Given the description of an element on the screen output the (x, y) to click on. 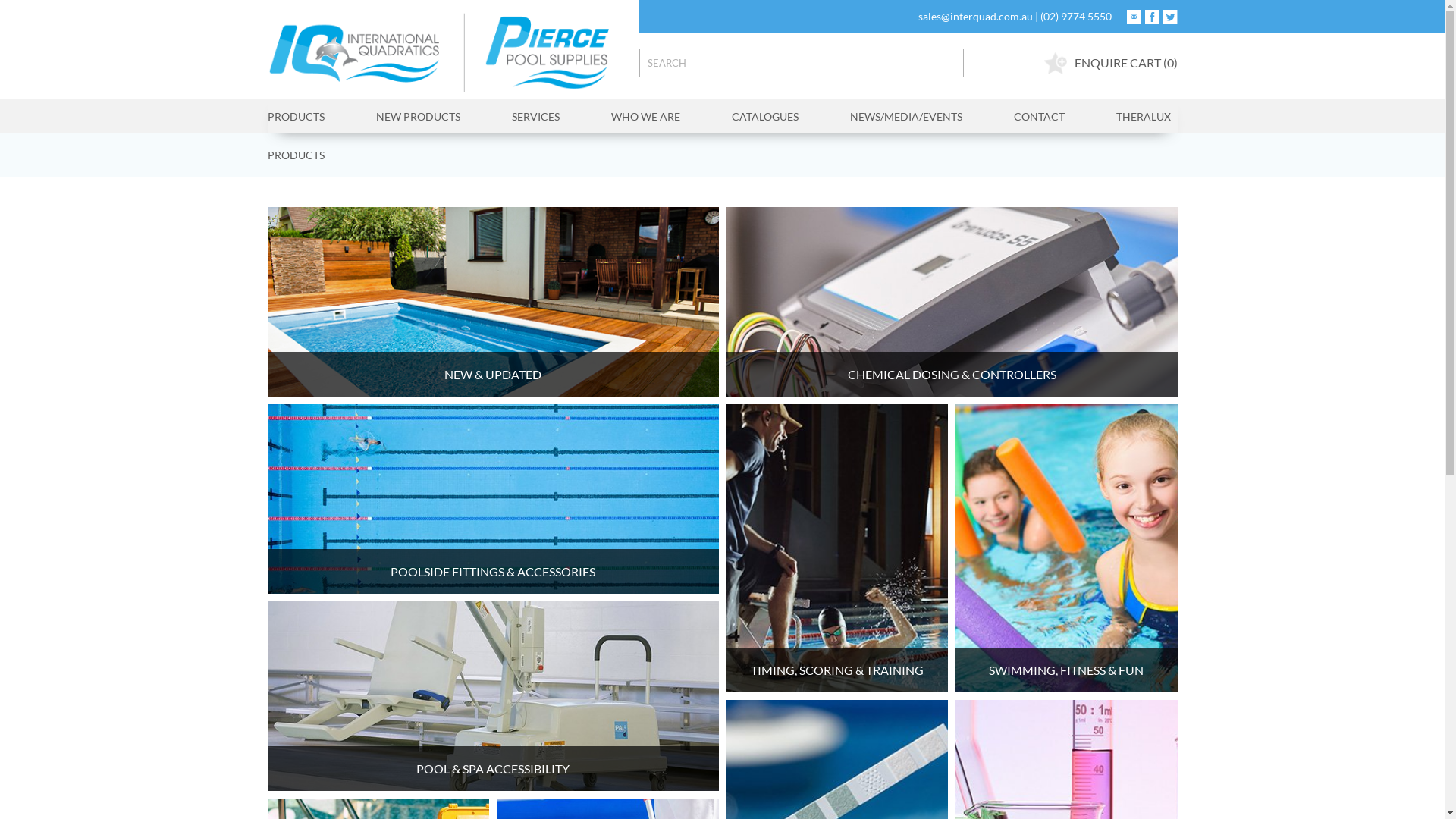
THERALUX Element type: text (1130, 116)
ENQUIRE CART (0) Element type: text (1109, 62)
TIMING, SCORING & TRAINING Element type: text (837, 548)
sales@interquad.com.au Element type: text (974, 15)
PRODUCTS Element type: text (307, 116)
CATALOGUES Element type: text (764, 116)
CONTACT Element type: text (1038, 116)
POOLSIDE FITTINGS & ACCESSORIES Element type: text (492, 498)
SERVICES Element type: text (534, 116)
SWIMMING, FITNESS & FUN Element type: text (1066, 548)
CHEMICAL DOSING & CONTROLLERS Element type: text (951, 301)
NEW PRODUCTS Element type: text (418, 116)
NEWS/MEDIA/EVENTS Element type: text (905, 116)
WHO WE ARE Element type: text (645, 116)
NEW & UPDATED Element type: text (492, 301)
POOL & SPA ACCESSIBILITY Element type: text (492, 695)
PRODUCTS Element type: text (294, 154)
(02) 9774 5550 Element type: text (1075, 15)
